Given the description of an element on the screen output the (x, y) to click on. 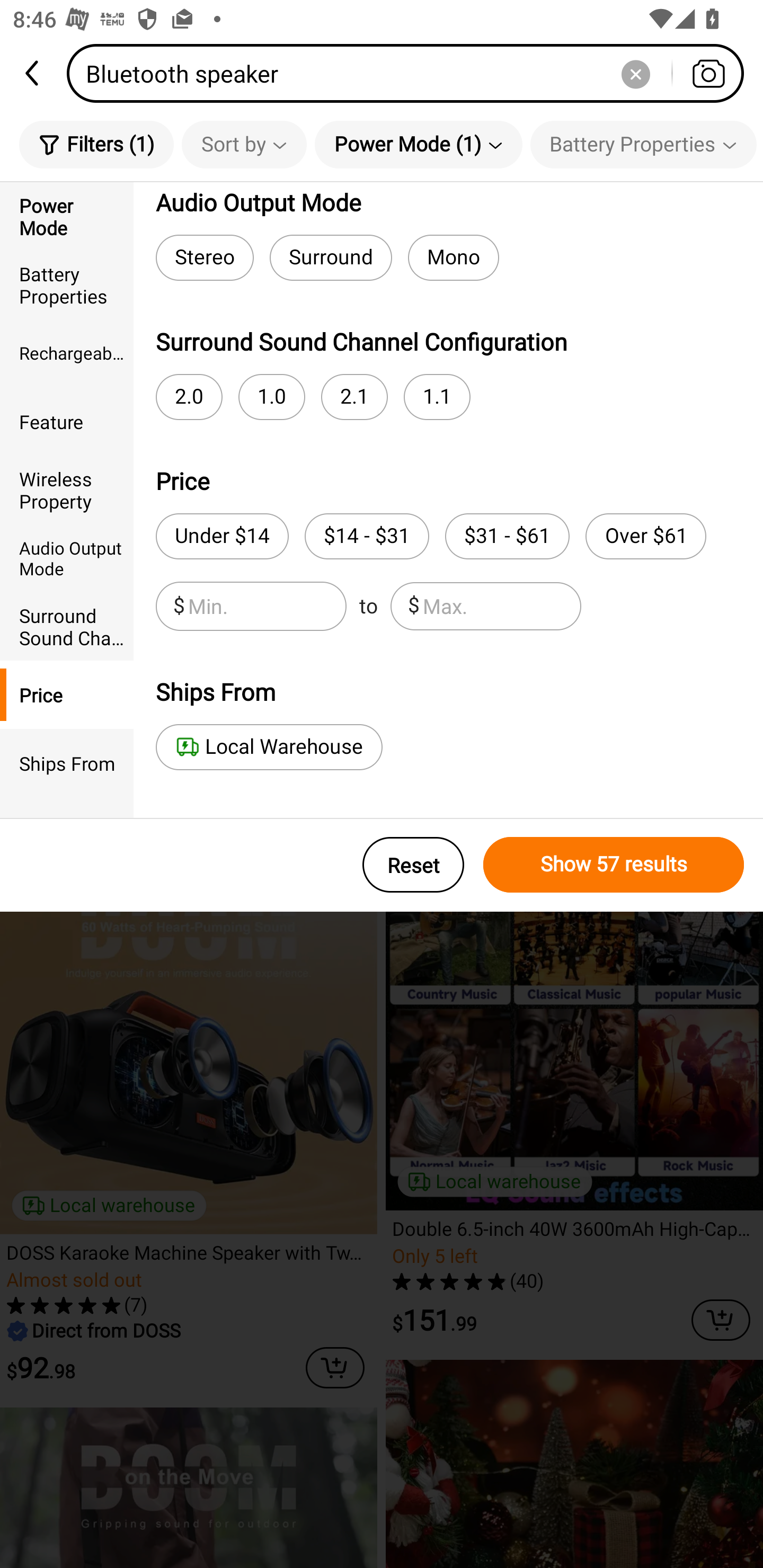
back (33, 72)
Bluetooth speaker (411, 73)
Delete search history (635, 73)
Search by photo (708, 73)
Filters (1) (96, 143)
Sort by (243, 143)
Power Mode (1) (418, 143)
Battery Properties (643, 143)
Power Mode (66, 215)
Stereo (204, 257)
Surround (330, 257)
Mono (453, 257)
Battery Properties (66, 284)
Rechargeable Battery (66, 352)
2.0 (188, 397)
1.0 (271, 397)
2.1 (354, 397)
1.1 (436, 397)
Feature (66, 421)
Wireless Property (66, 489)
Under $14 (221, 535)
$14 - $31 (366, 535)
$31 - $61 (506, 535)
Over $61 (645, 535)
Audio Output Mode (66, 557)
$ Min. to $ Max. (368, 605)
Surround Sound Channel Configuration (66, 626)
Price (66, 694)
Local Warehouse (268, 746)
Ships From (66, 762)
Reset (412, 864)
Show 57 results (612, 864)
